Given the description of an element on the screen output the (x, y) to click on. 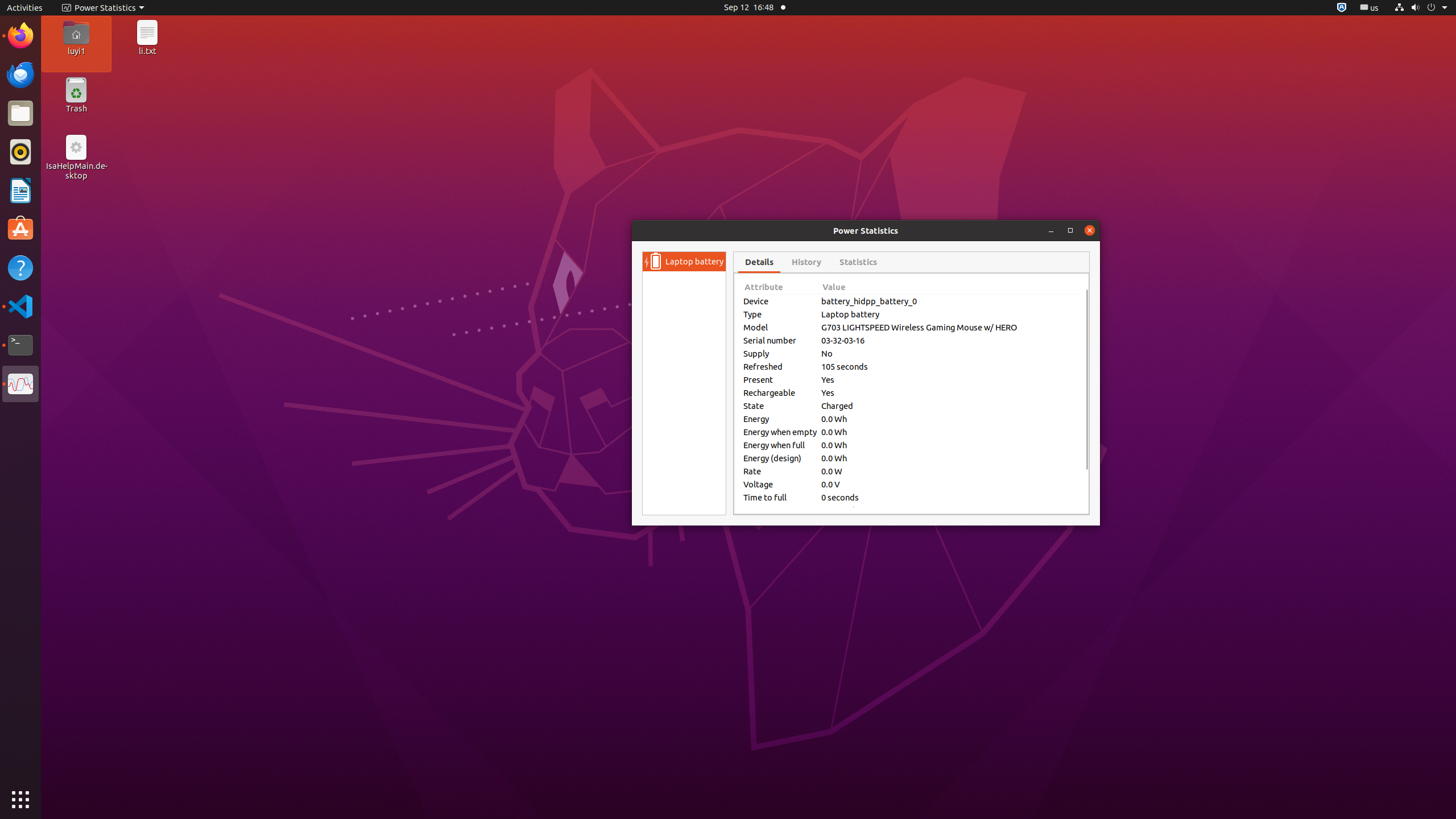
Supply Element type: table-cell (779, 353)
Energy when empty Element type: table-cell (779, 431)
Rechargeable Element type: table-cell (779, 392)
